Given the description of an element on the screen output the (x, y) to click on. 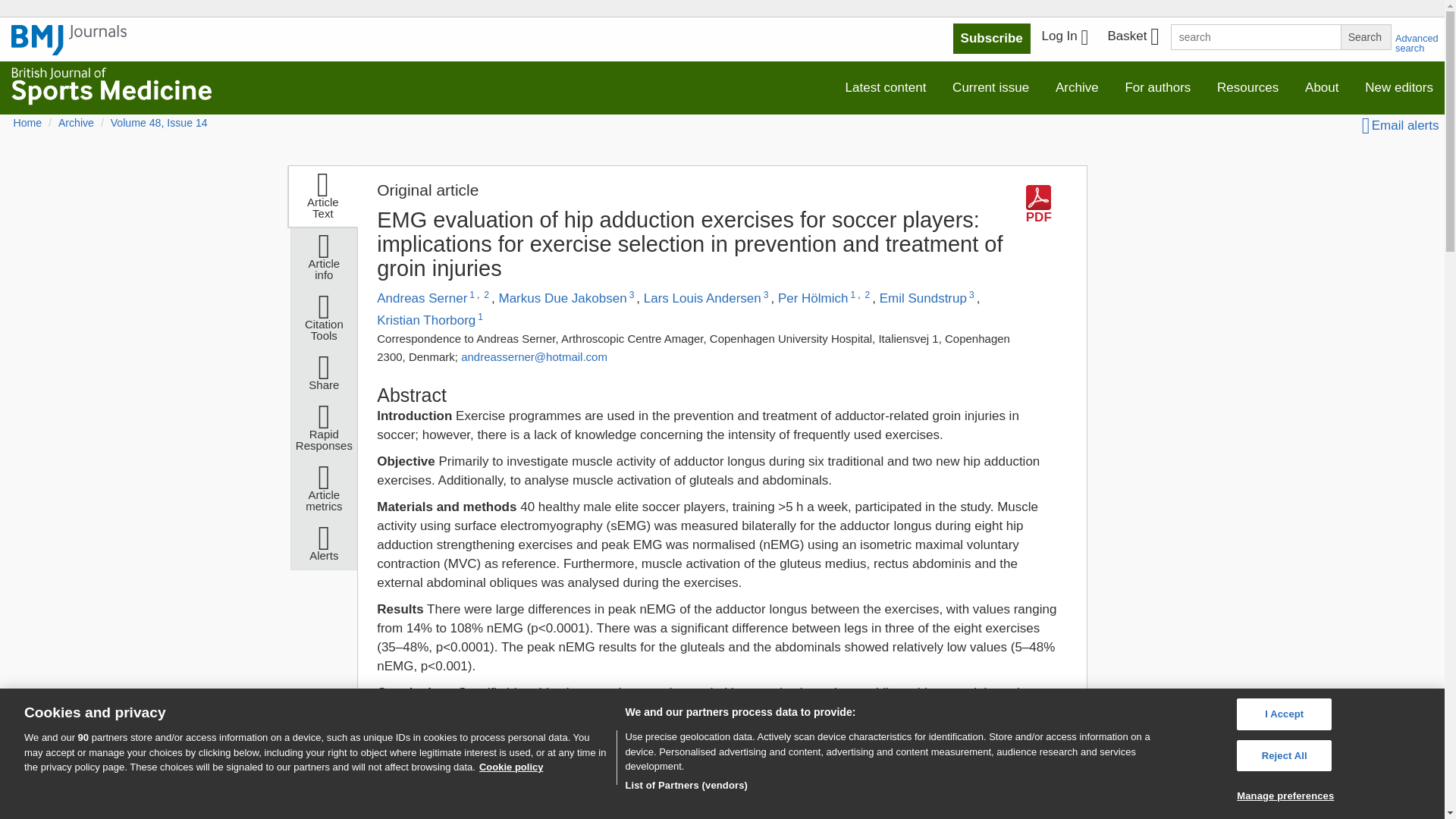
Subscribe (991, 38)
Log In (1064, 38)
Basket (1132, 38)
Latest content (885, 87)
Search (1364, 36)
Resources (1247, 87)
About (1321, 87)
Advanced search (1416, 43)
BMJ Journals (68, 47)
Archive (1076, 87)
Search (1364, 36)
BMJ Journals (68, 40)
Current issue (990, 87)
For authors (1157, 87)
